Given the description of an element on the screen output the (x, y) to click on. 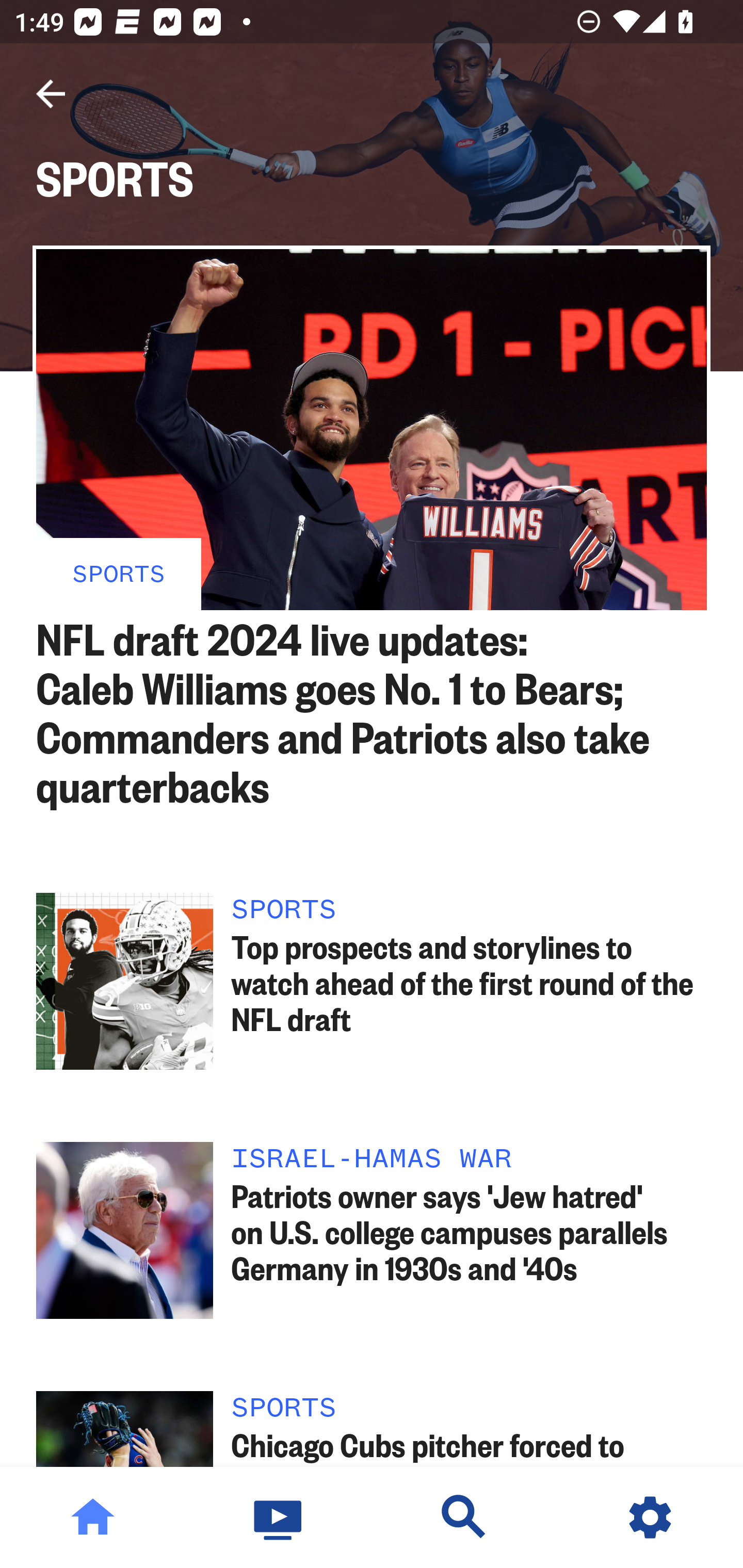
Navigate up (50, 93)
Watch (278, 1517)
Discover (464, 1517)
Settings (650, 1517)
